Given the description of an element on the screen output the (x, y) to click on. 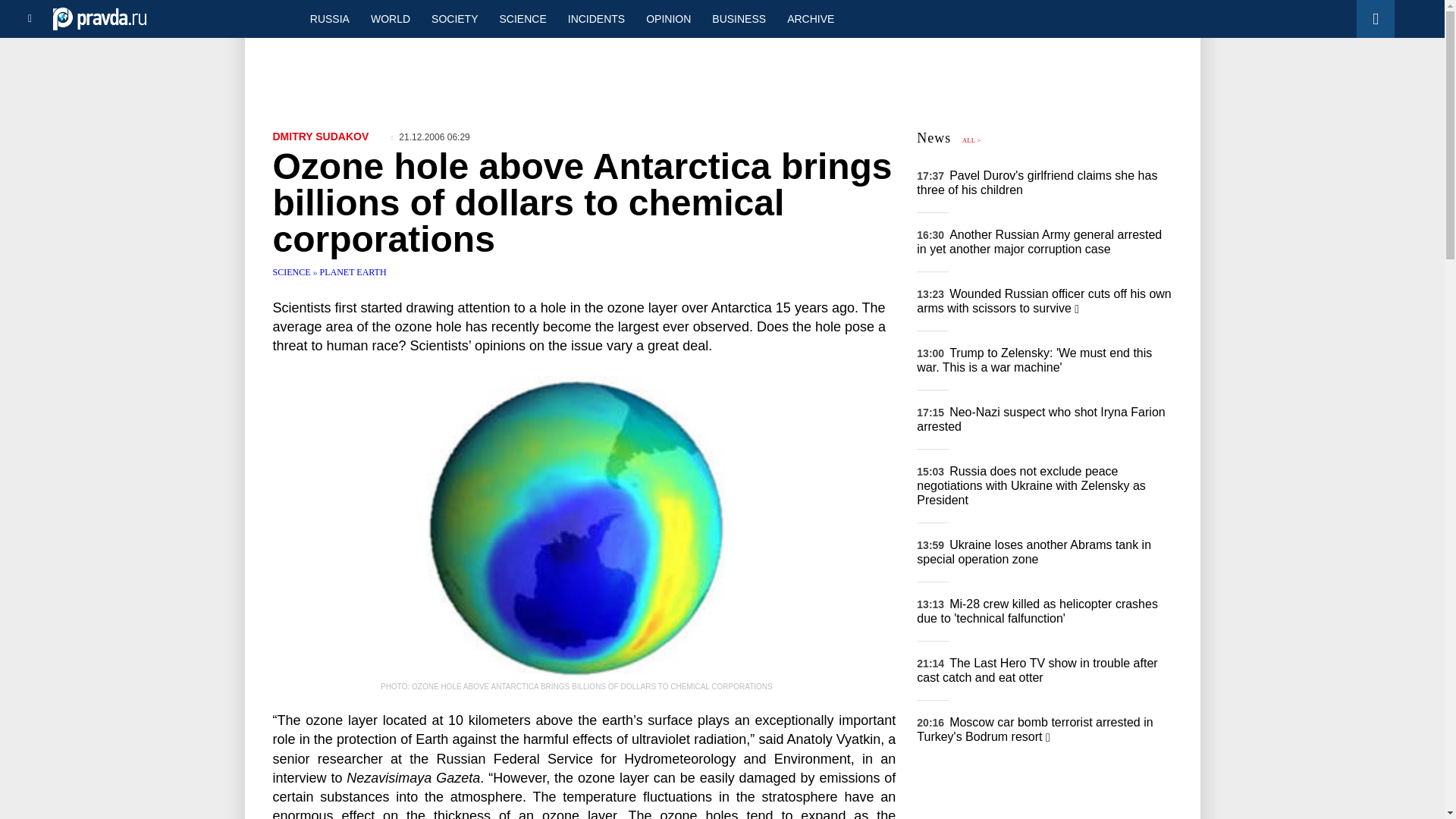
BUSINESS (738, 18)
SCIENCE (523, 18)
DMITRY SUDAKOV (321, 136)
ARCHIVE (810, 18)
Published (430, 136)
Neo-Nazi suspect who shot Iryna Farion arrested (1040, 419)
Ukraine loses another Abrams tank in special operation zone (1034, 551)
News (933, 137)
SOCIETY (453, 18)
SCIENCE (293, 271)
